Given the description of an element on the screen output the (x, y) to click on. 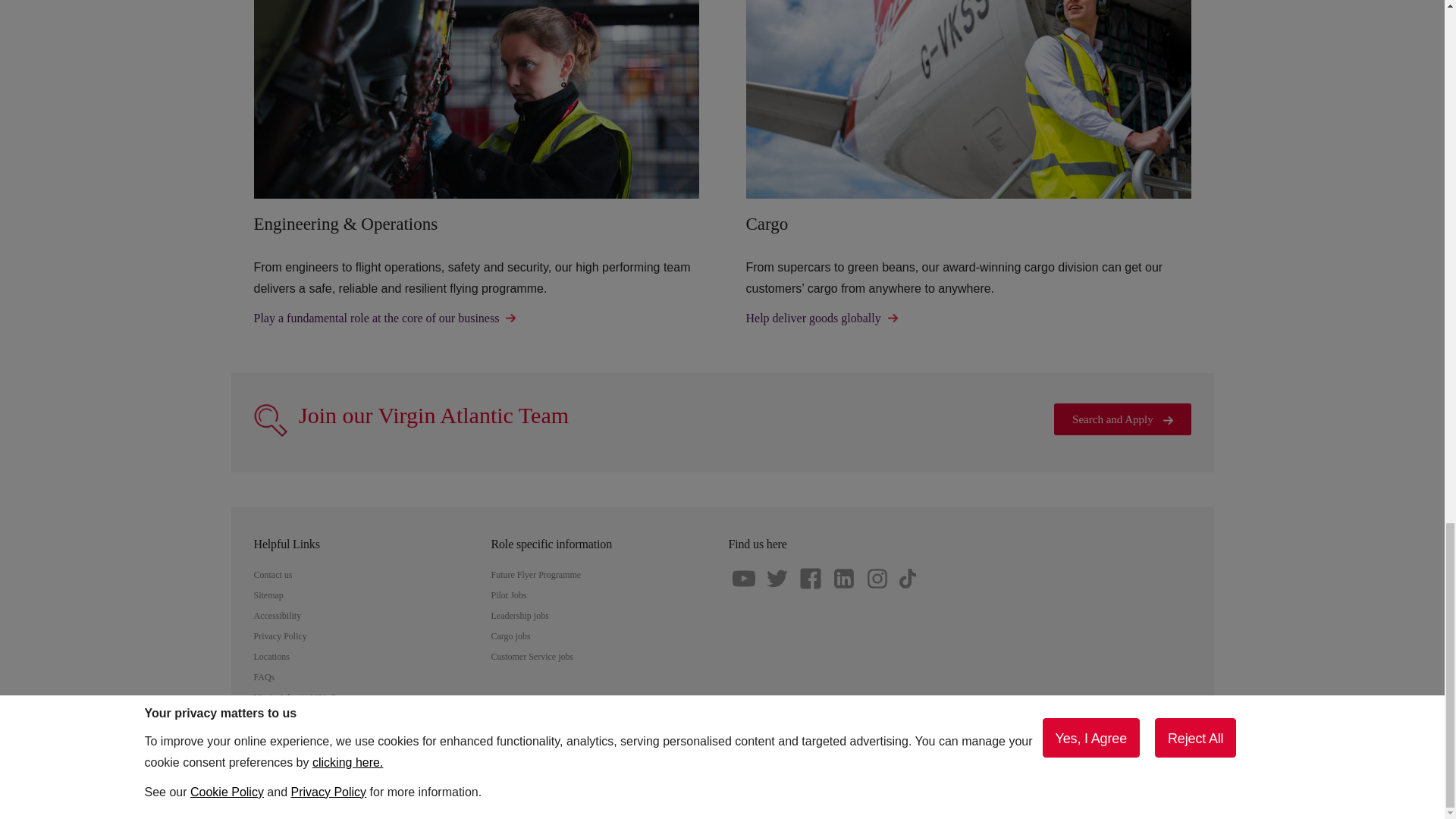
LinkedIn (843, 578)
Facebook (809, 578)
YouTube (743, 578)
Twitter (776, 578)
Instagram (876, 578)
